Given the description of an element on the screen output the (x, y) to click on. 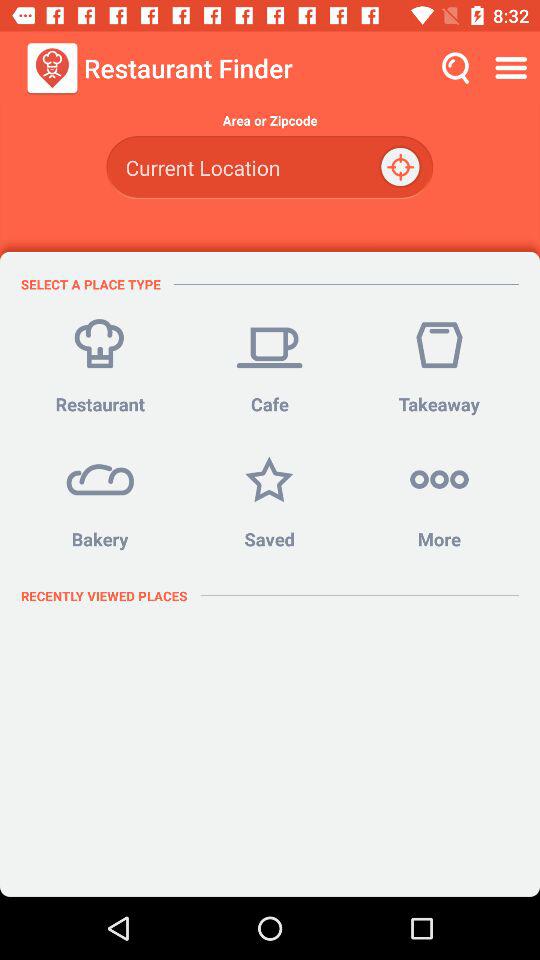
tap the icon above the area or zipcode icon (513, 67)
